Given the description of an element on the screen output the (x, y) to click on. 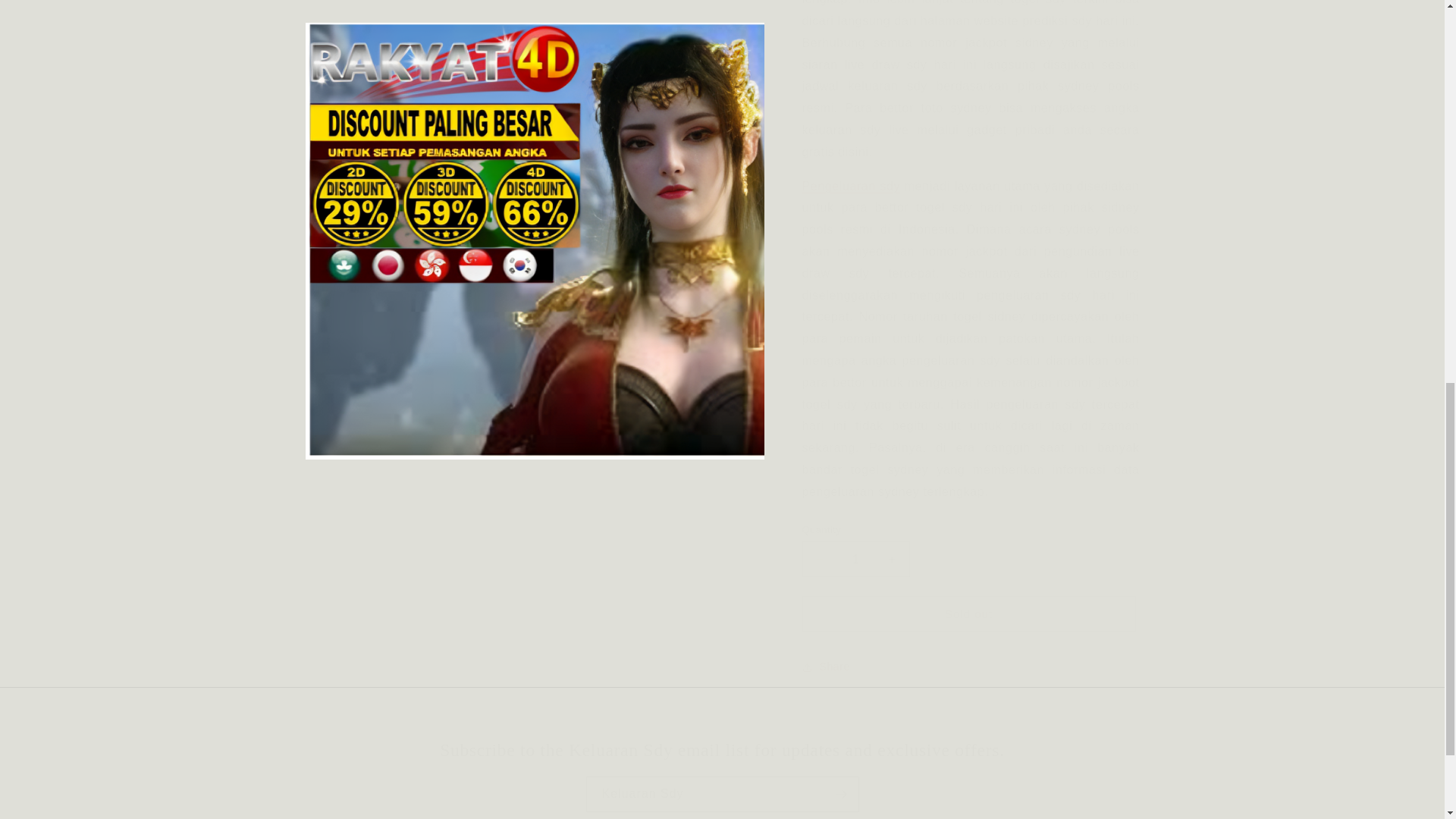
Pengeluaran sdy (851, 174)
Sold out (968, 601)
1 (856, 547)
